Given the description of an element on the screen output the (x, y) to click on. 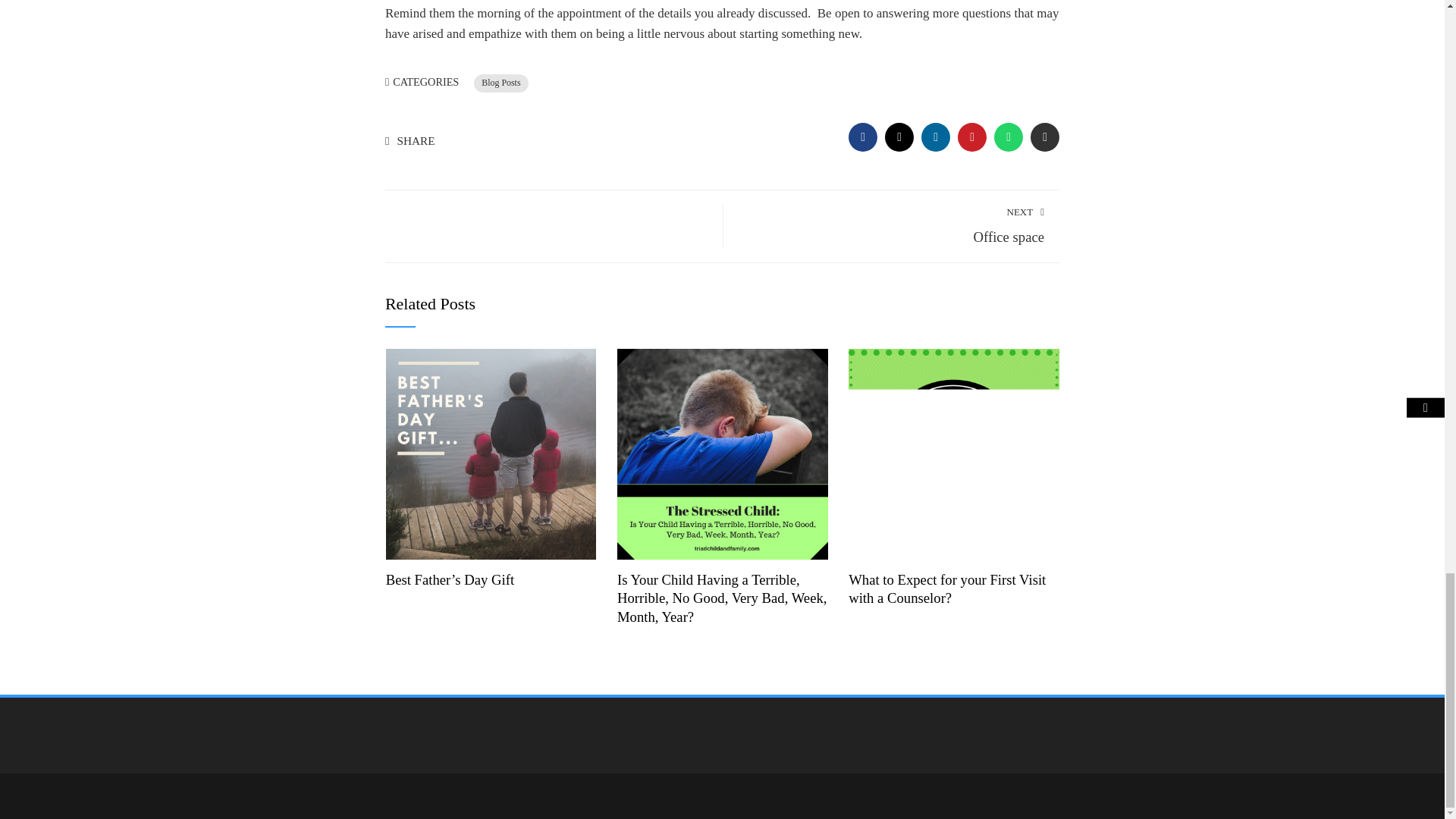
Blog Posts (500, 83)
EMAIL (1044, 136)
WHATSAPP (1008, 136)
What to Expect for your First Visit with a Counselor? (946, 588)
What to Expect for your First Visit with a Counselor? (891, 224)
TWITTER (953, 452)
PINTEREST (899, 136)
